Given the description of an element on the screen output the (x, y) to click on. 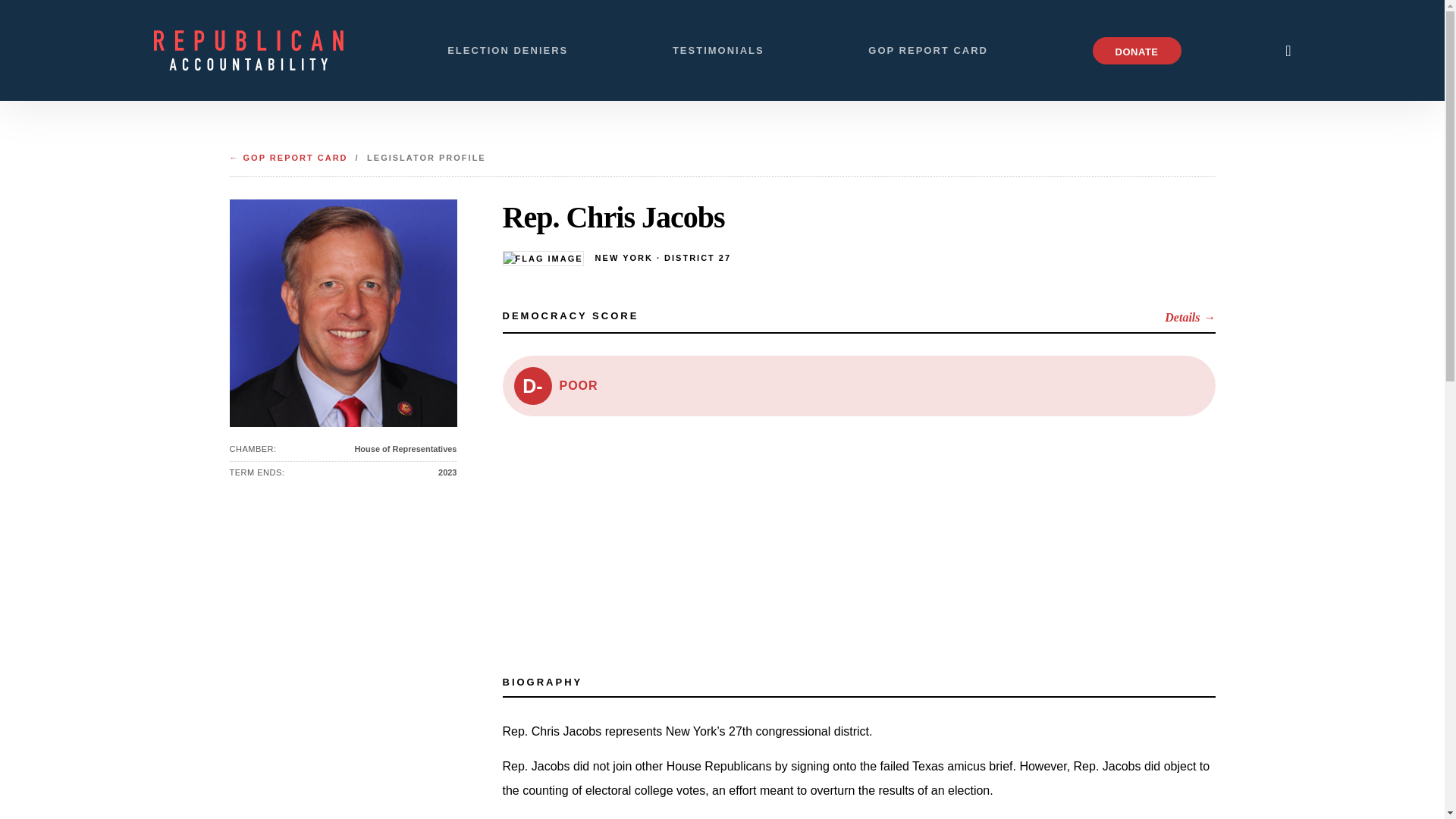
ELECTION DENIERS (506, 49)
GOP REPORT CARD (927, 49)
TESTIMONIALS (718, 49)
DONATE (1136, 50)
